Given the description of an element on the screen output the (x, y) to click on. 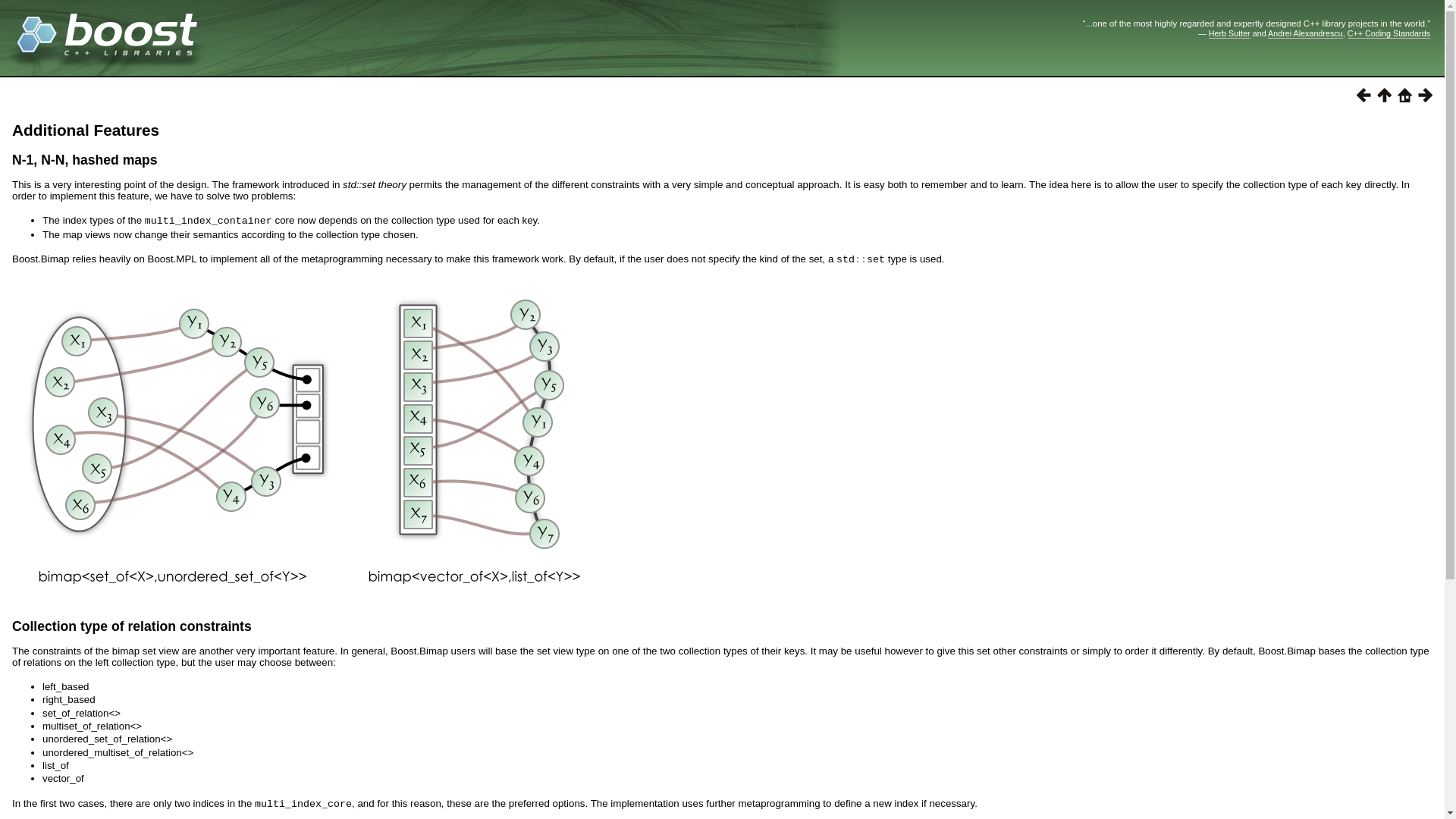
Additional Features (84, 129)
Andrei Alexandrescu (1305, 33)
Collection type of relation constraints (131, 626)
N-1, N-N, hashed maps (84, 159)
Herb Sutter (1229, 33)
Additional Features (84, 129)
